Given the description of an element on the screen output the (x, y) to click on. 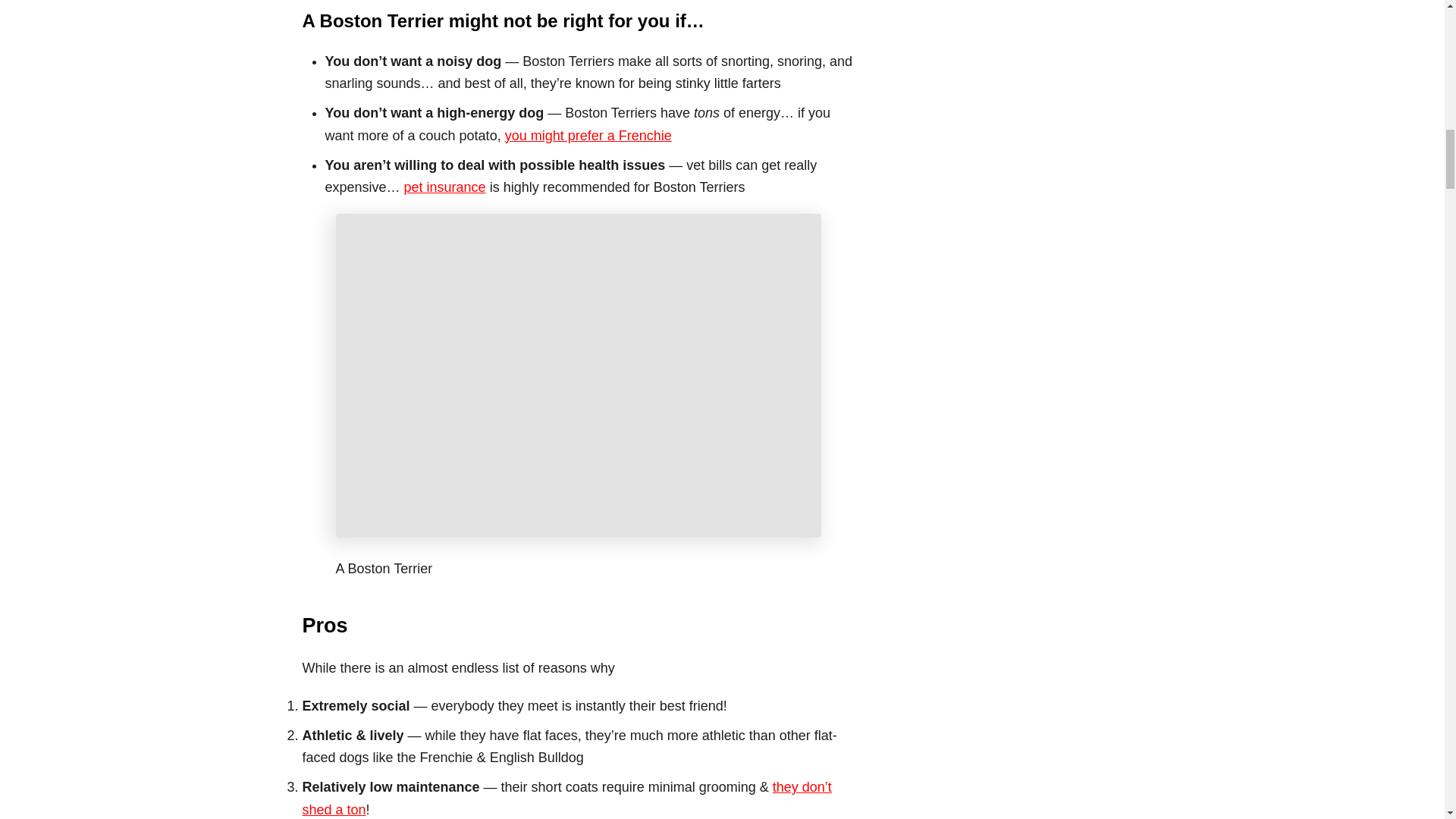
you might prefer a Frenchie (588, 135)
pet insurance (445, 186)
